Given the description of an element on the screen output the (x, y) to click on. 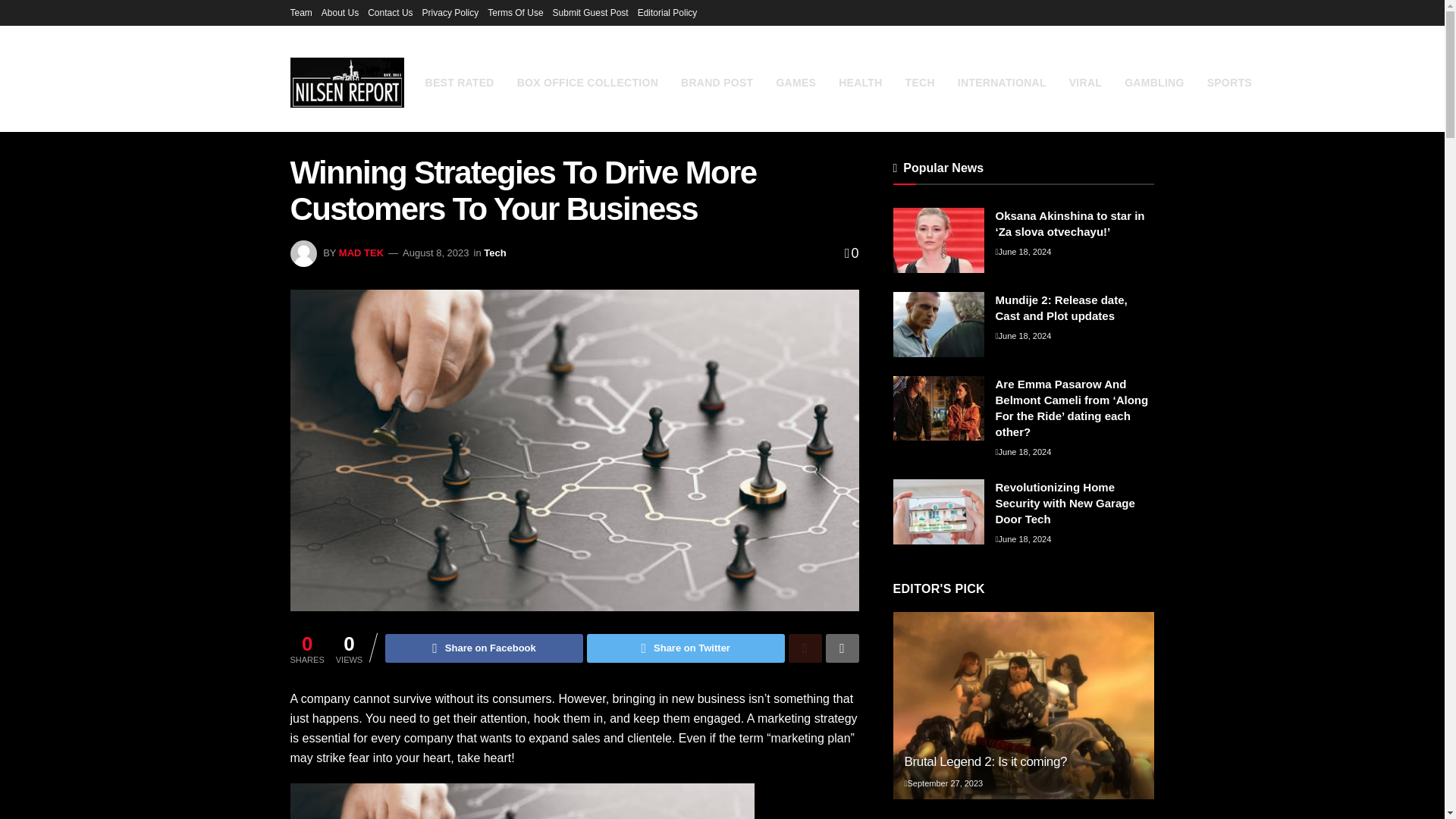
Share on Facebook (484, 647)
INTERNATIONAL (1002, 82)
MAD TEK (361, 252)
BEST RATED (459, 82)
Contact Us (390, 12)
Terms Of Use (515, 12)
BOX OFFICE COLLECTION (587, 82)
About Us (339, 12)
TECH (919, 82)
August 8, 2023 (435, 252)
